Given the description of an element on the screen output the (x, y) to click on. 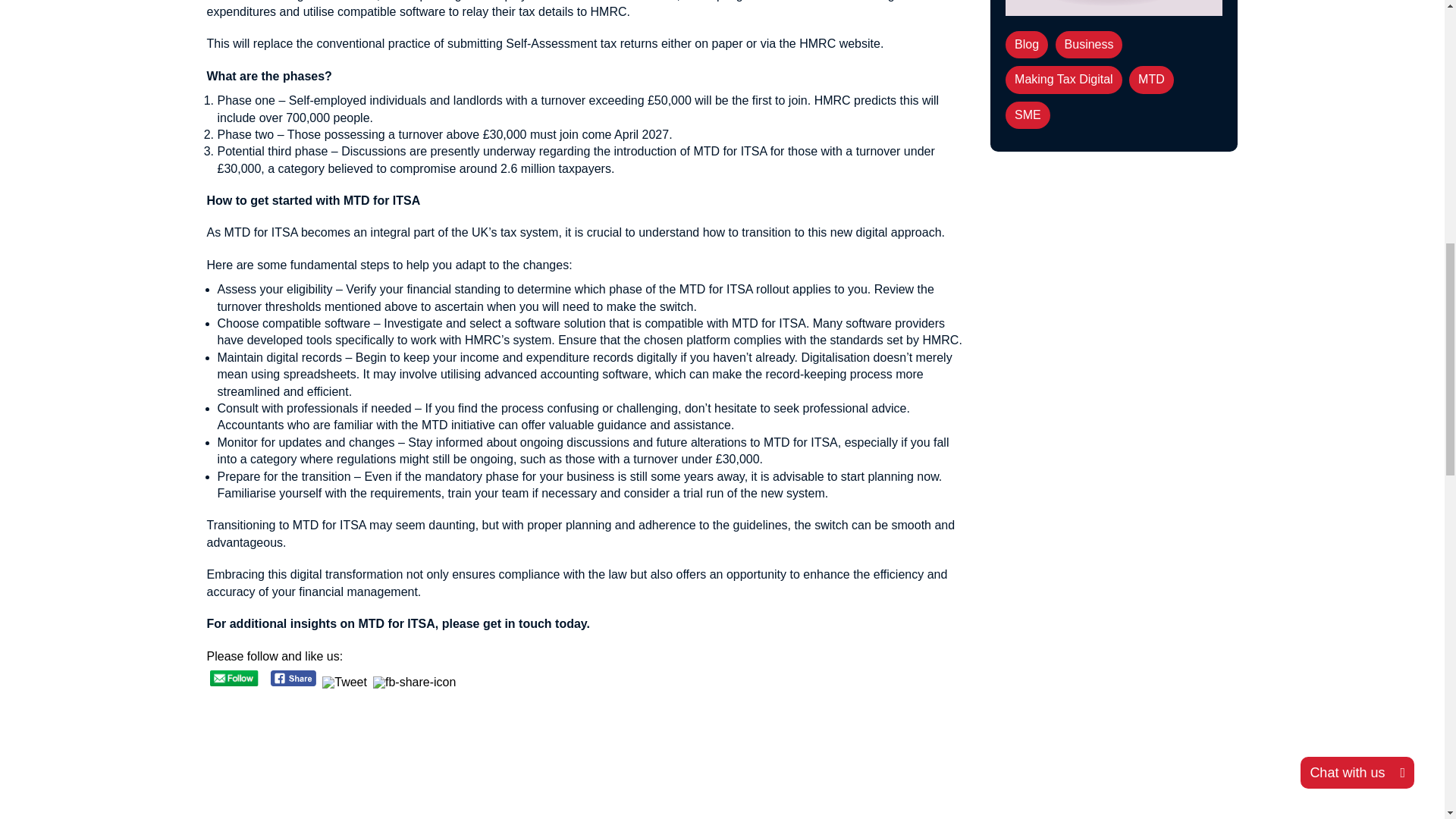
Tweet (343, 684)
Facebook Share (293, 678)
Pin Share (413, 684)
